Given the description of an element on the screen output the (x, y) to click on. 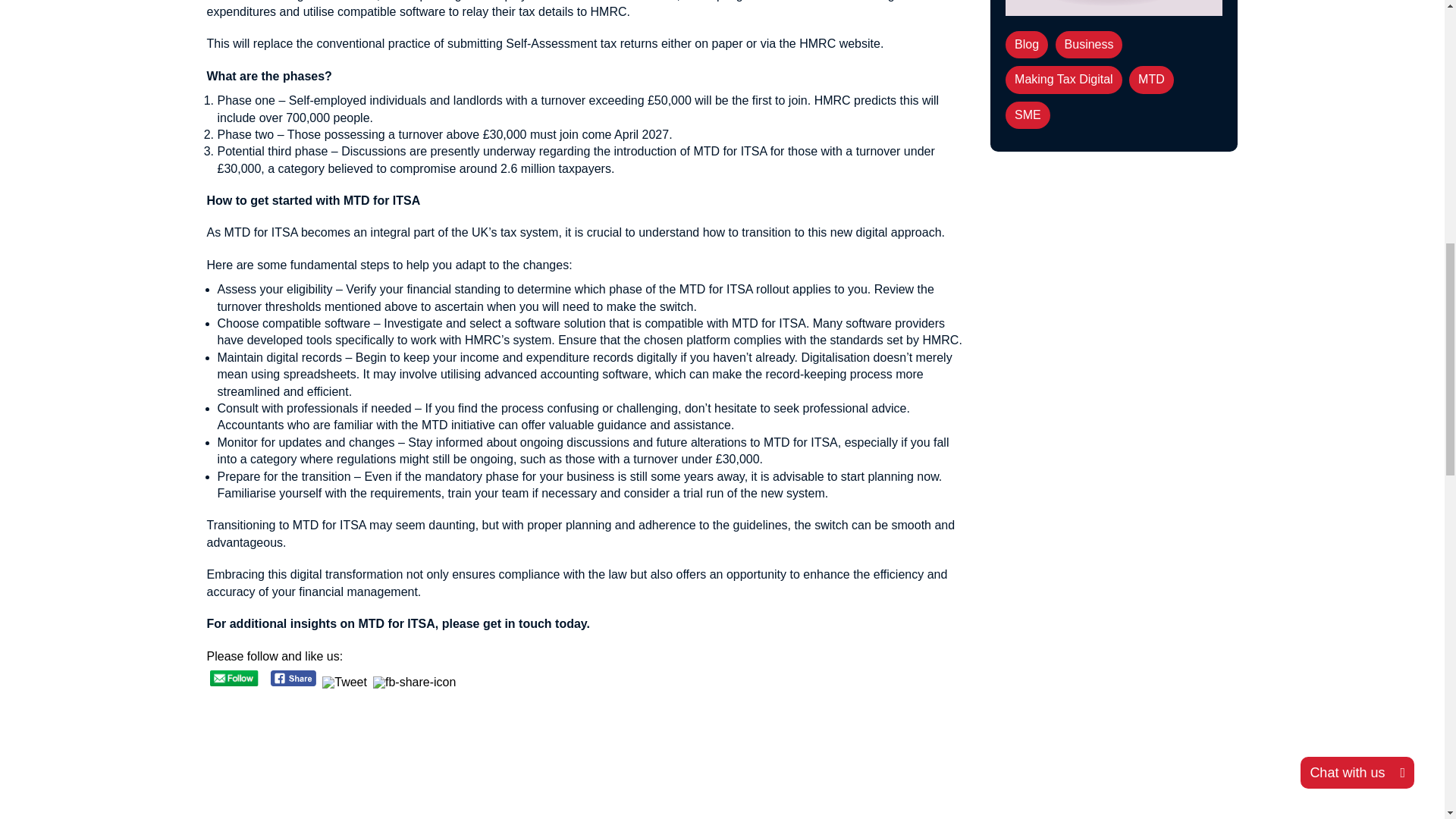
Tweet (343, 684)
Facebook Share (293, 678)
Pin Share (413, 684)
